Given the description of an element on the screen output the (x, y) to click on. 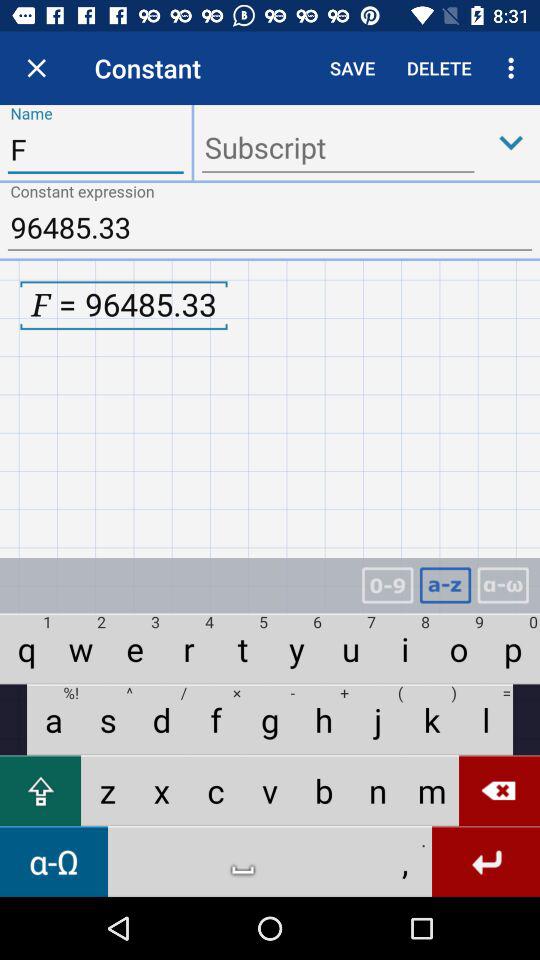
ender the subscript box (337, 149)
